Given the description of an element on the screen output the (x, y) to click on. 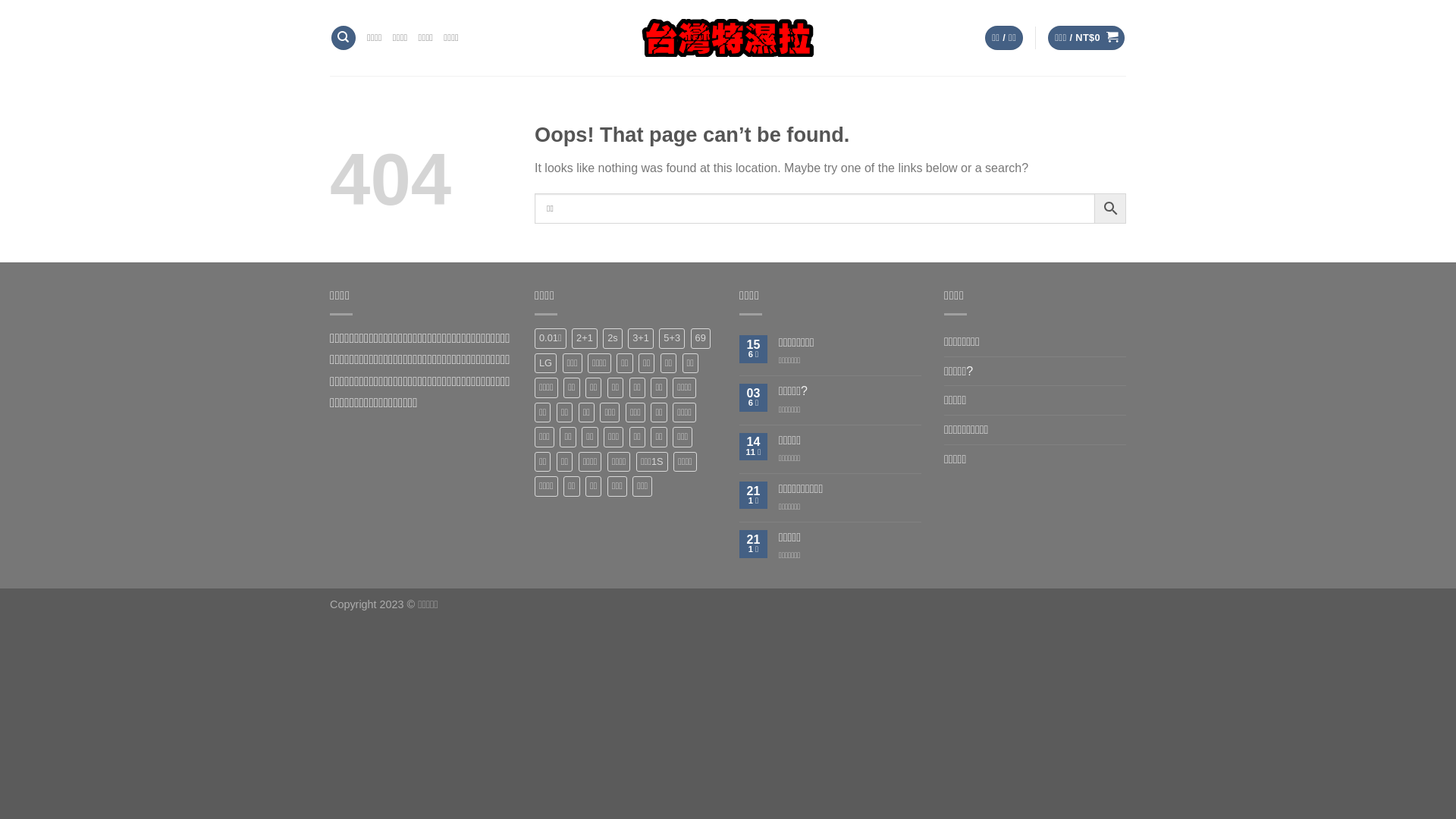
3+1 Element type: text (640, 338)
LG Element type: text (545, 363)
69 Element type: text (700, 338)
5+3 Element type: text (671, 338)
2s Element type: text (612, 338)
2+1 Element type: text (584, 338)
